Given the description of an element on the screen output the (x, y) to click on. 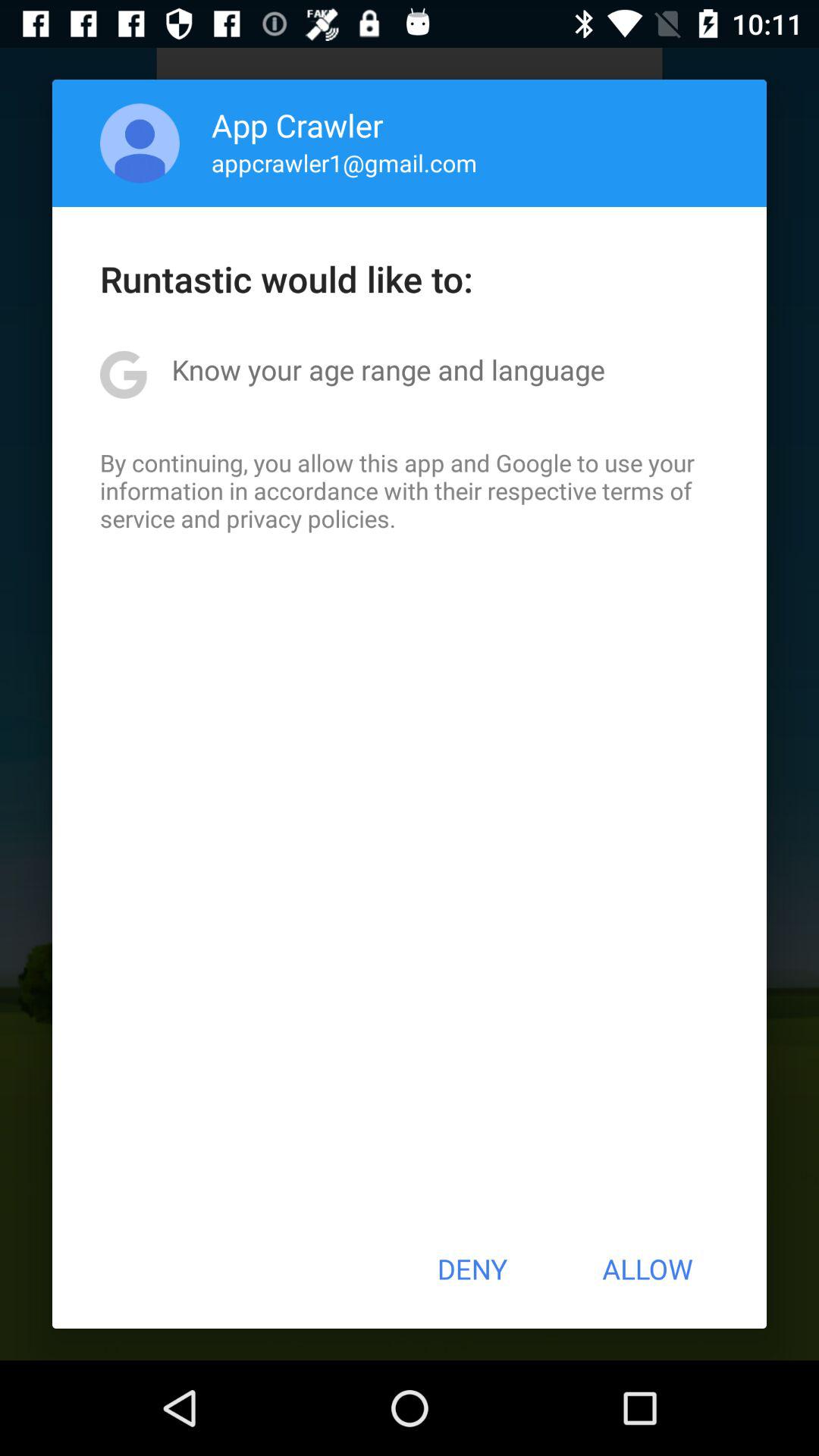
scroll until know your age app (388, 369)
